Given the description of an element on the screen output the (x, y) to click on. 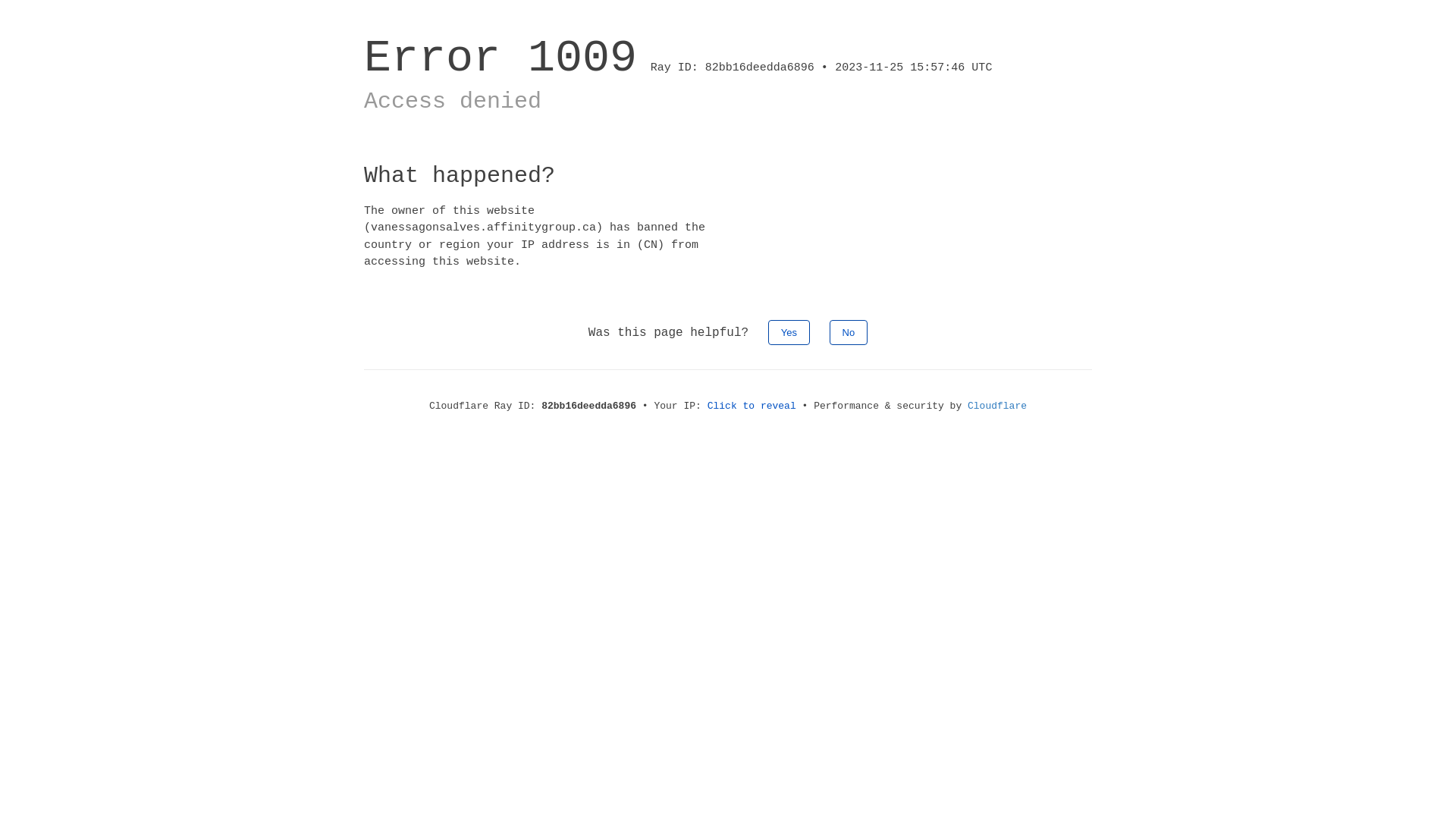
No Element type: text (848, 332)
Cloudflare Element type: text (996, 405)
Yes Element type: text (788, 332)
Click to reveal Element type: text (751, 405)
